Given the description of an element on the screen output the (x, y) to click on. 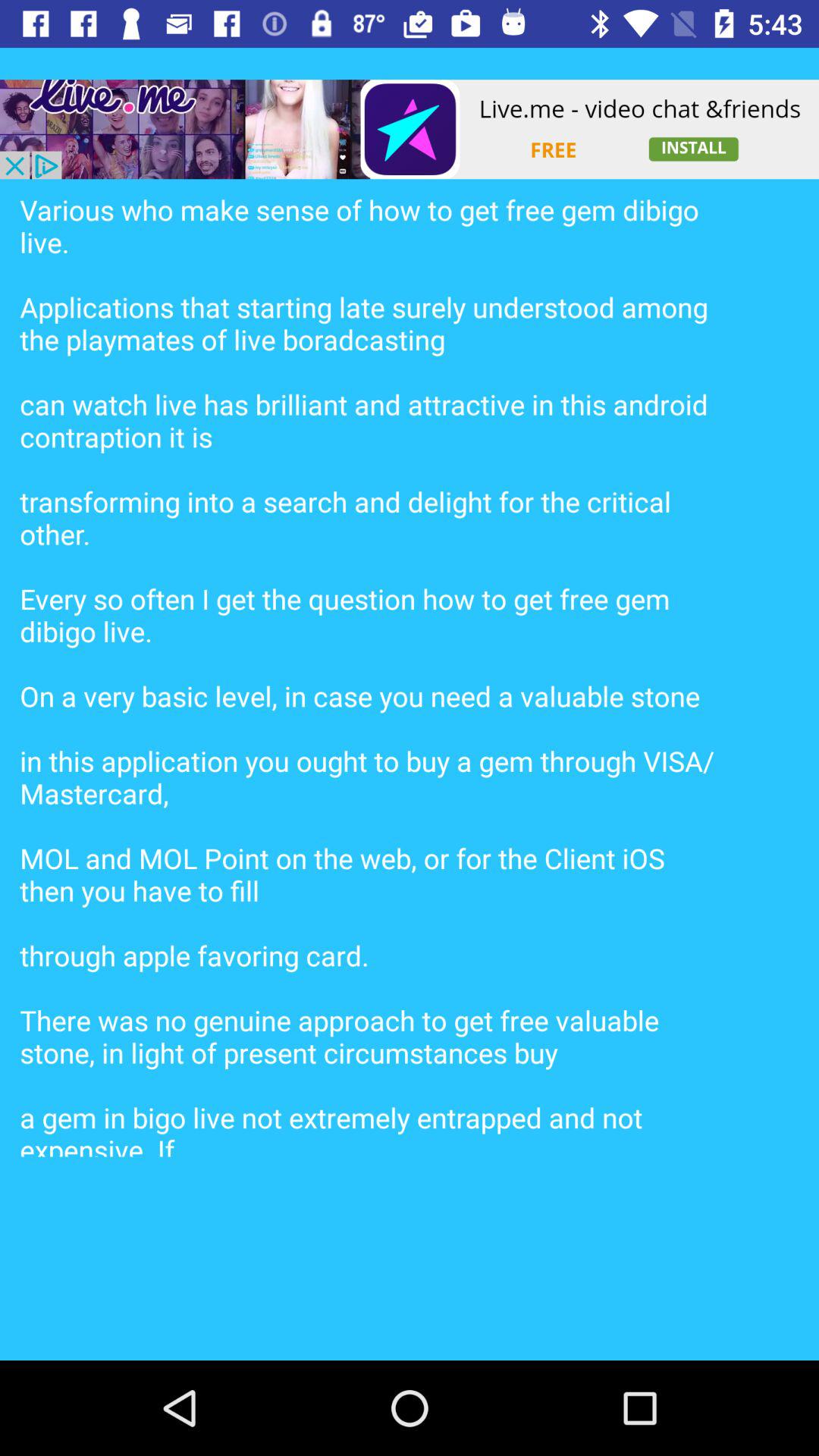
open advertisement (409, 129)
